Given the description of an element on the screen output the (x, y) to click on. 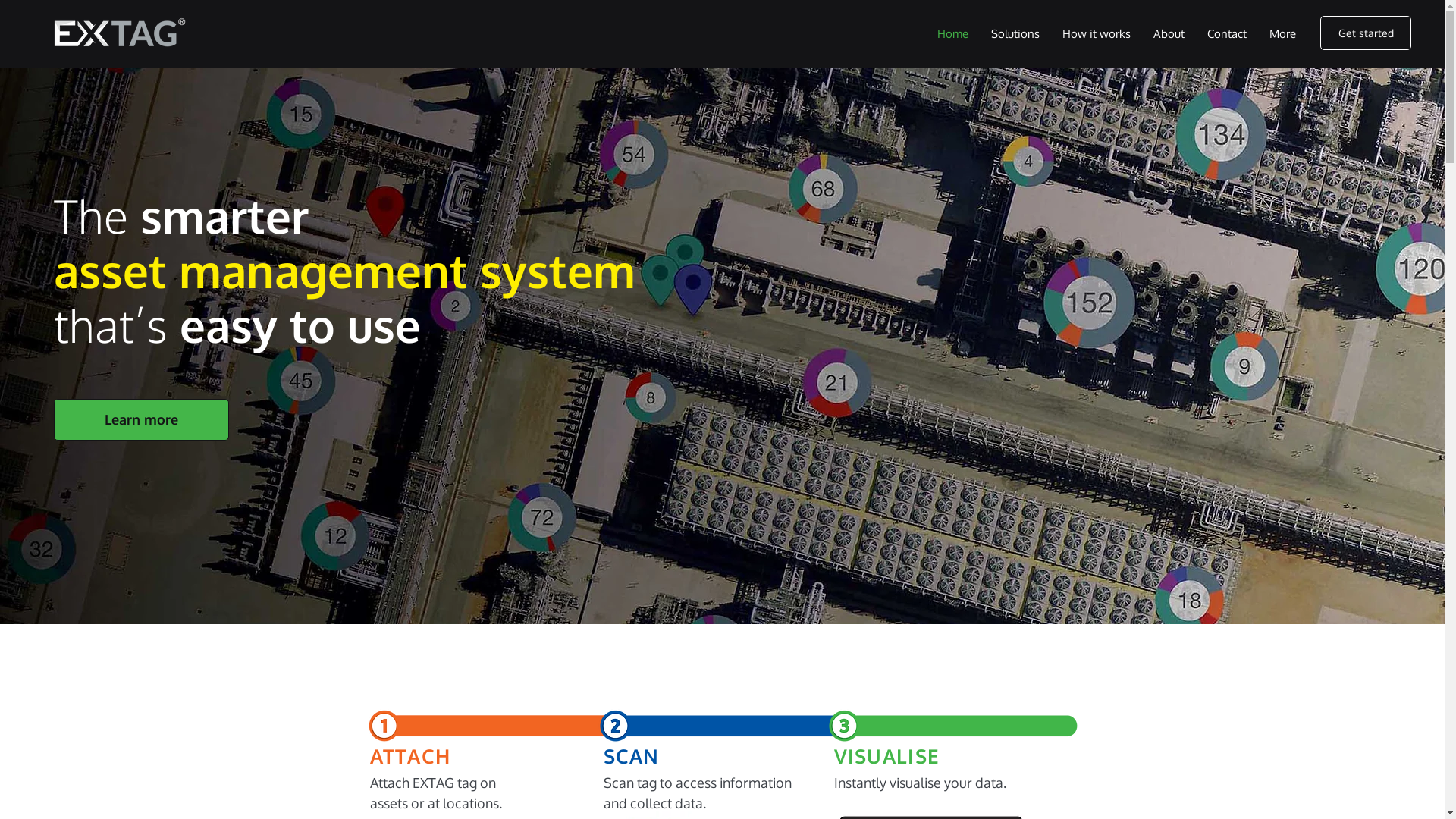
Solutions Element type: text (1015, 34)
Contact Element type: text (1226, 34)
About Element type: text (1168, 34)
Home Element type: text (952, 34)
How it works Element type: text (1096, 34)
Get started Element type: text (1365, 32)
Learn more Element type: text (141, 419)
